Given the description of an element on the screen output the (x, y) to click on. 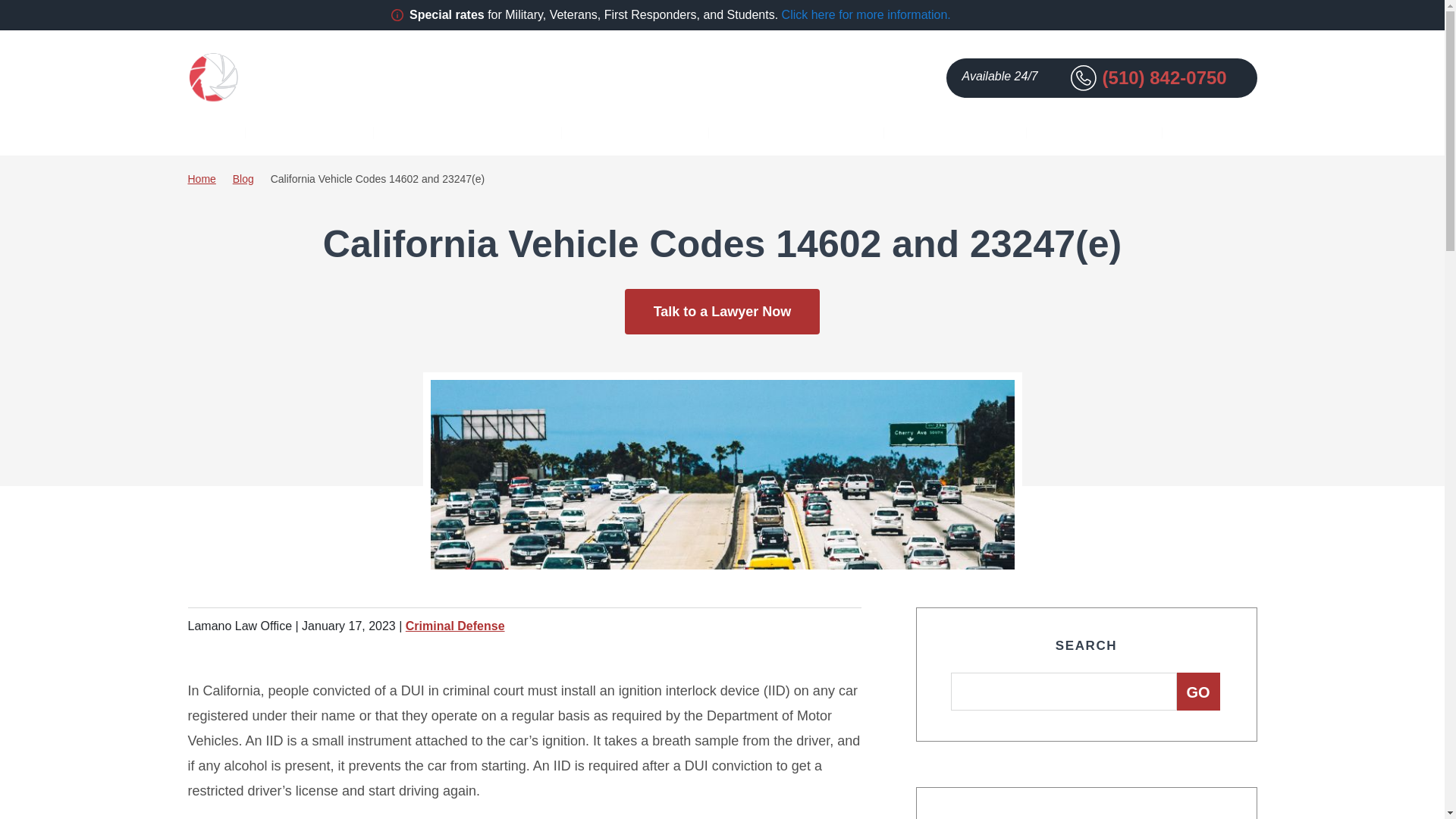
Home (209, 133)
Go (1198, 691)
About Us (316, 133)
